Given the description of an element on the screen output the (x, y) to click on. 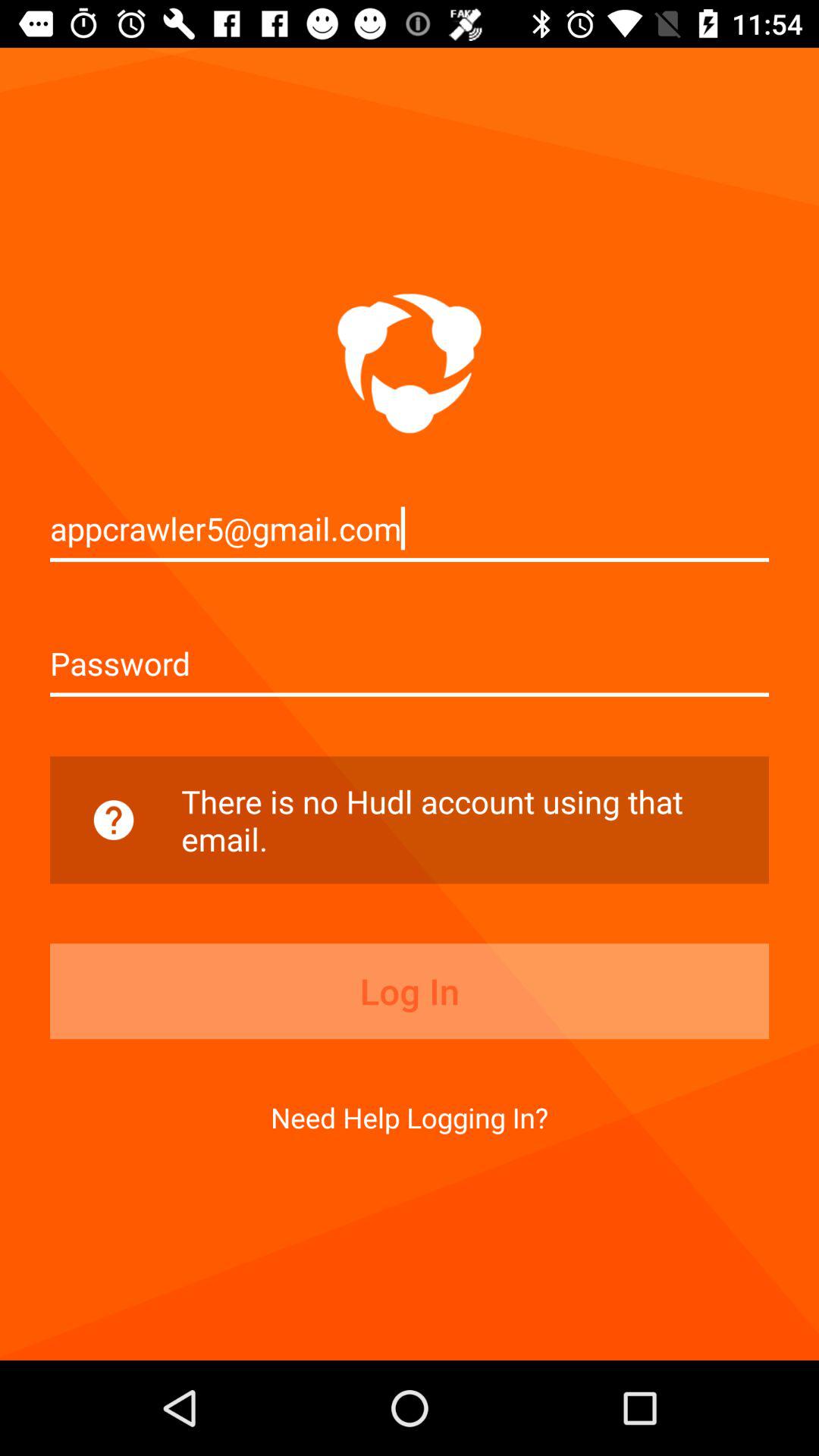
choose need help logging (409, 1117)
